Given the description of an element on the screen output the (x, y) to click on. 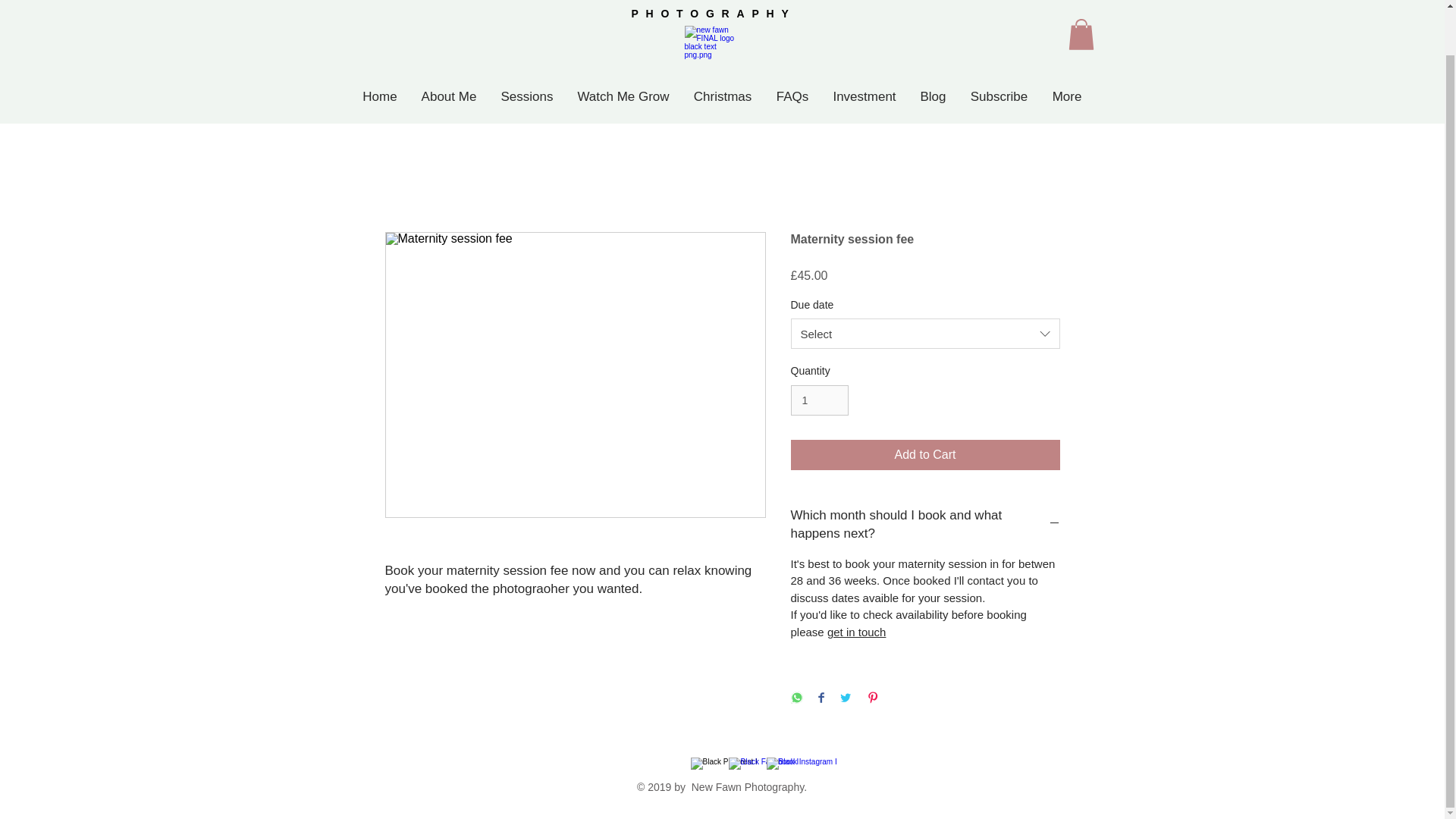
Sessions (525, 96)
About Me (449, 96)
New Fawn (713, 0)
get in touch (856, 631)
Select (924, 333)
Subscribe (999, 96)
FAQs (792, 96)
Which month should I book and what happens next? (924, 524)
Investment (864, 96)
Christmas (721, 96)
